Given the description of an element on the screen output the (x, y) to click on. 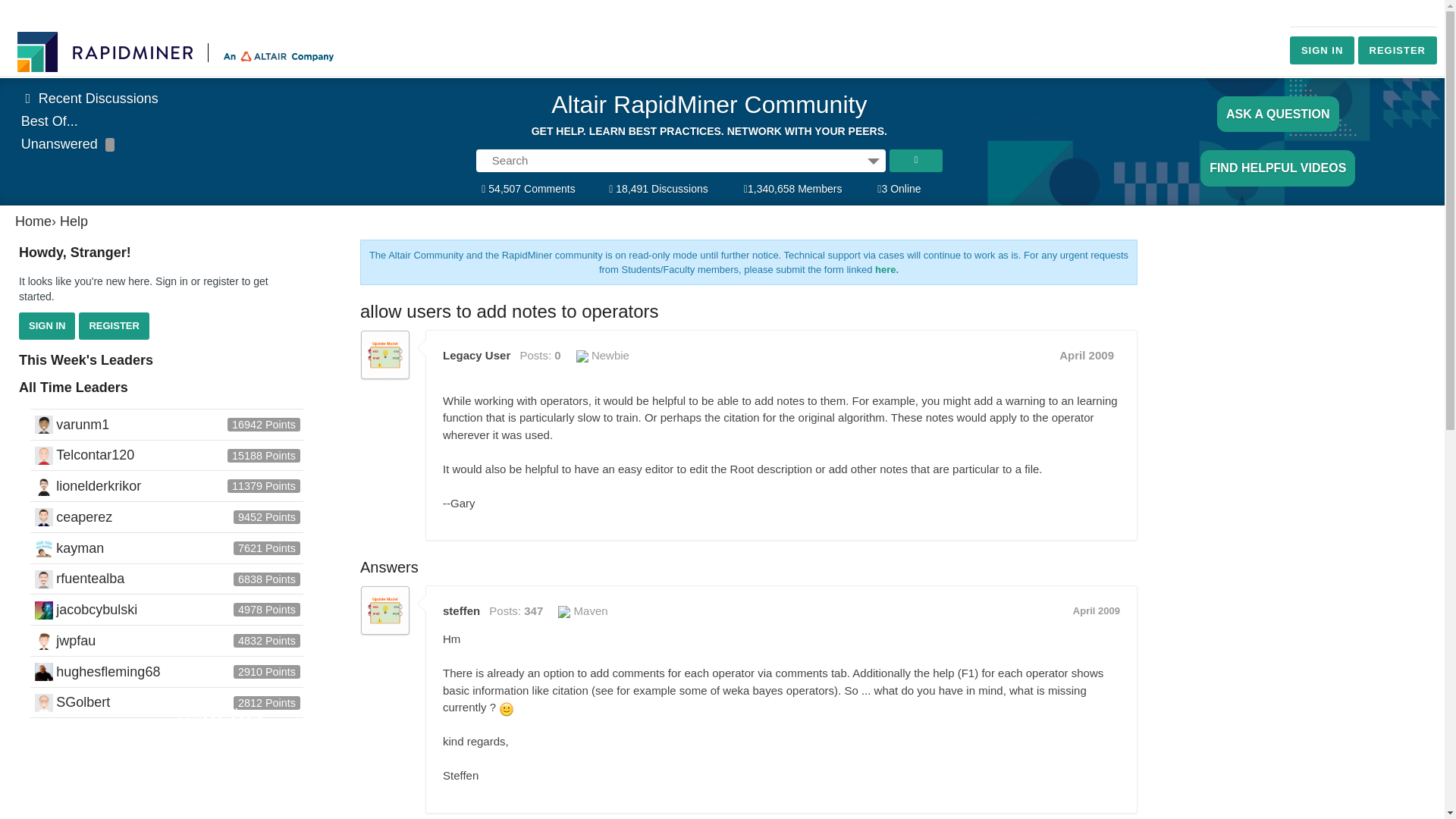
Legacy User (385, 354)
Maven (582, 610)
SIGN IN (1322, 50)
Newbie (602, 354)
FIND HELPFUL VIDEOS (1277, 167)
April 17, 2009 1:43AM (1096, 610)
steffen (385, 610)
SIGN IN (46, 325)
Best Of... (49, 120)
REGISTER (113, 325)
